Given the description of an element on the screen output the (x, y) to click on. 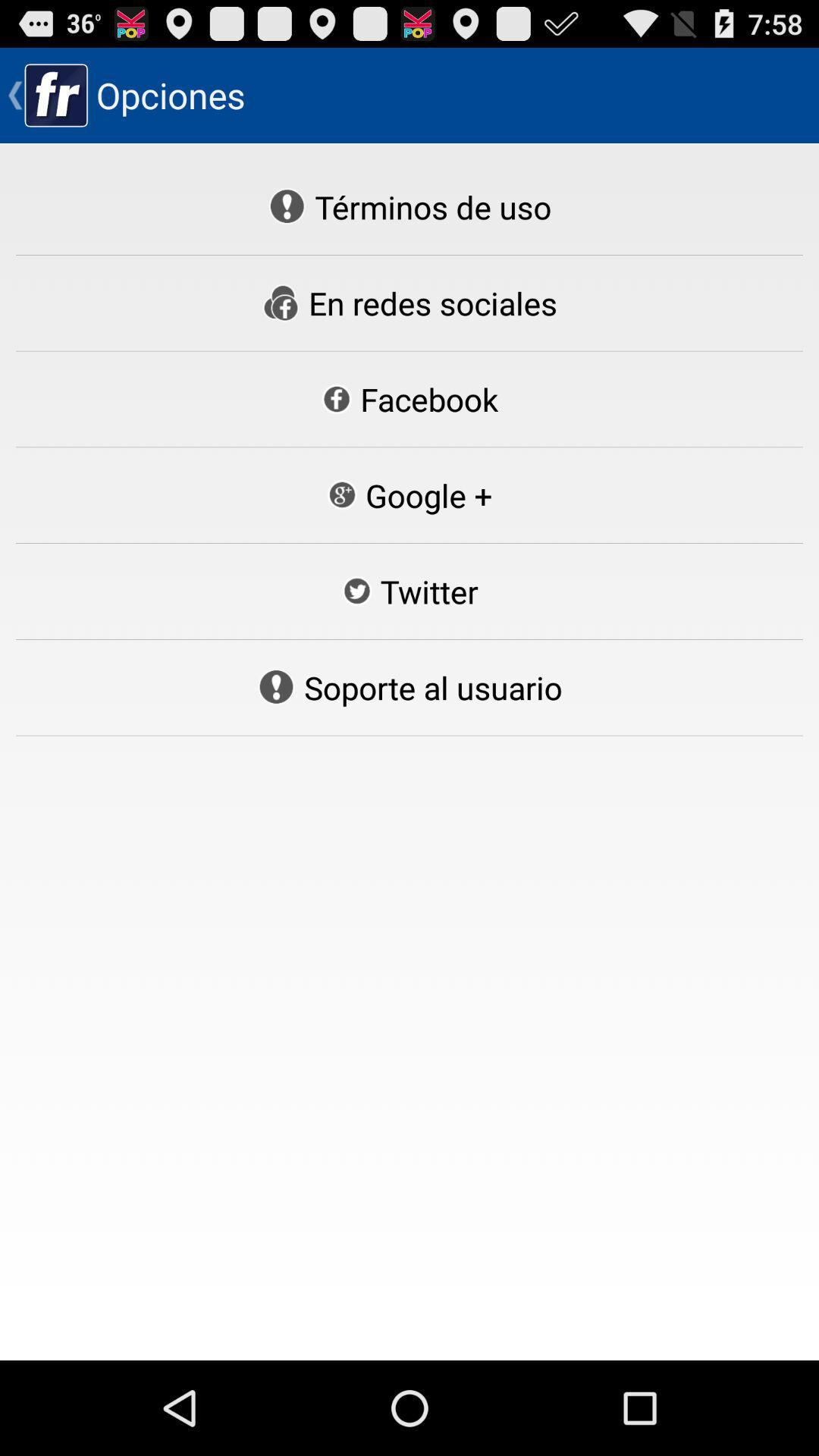
flip until facebook icon (409, 399)
